Given the description of an element on the screen output the (x, y) to click on. 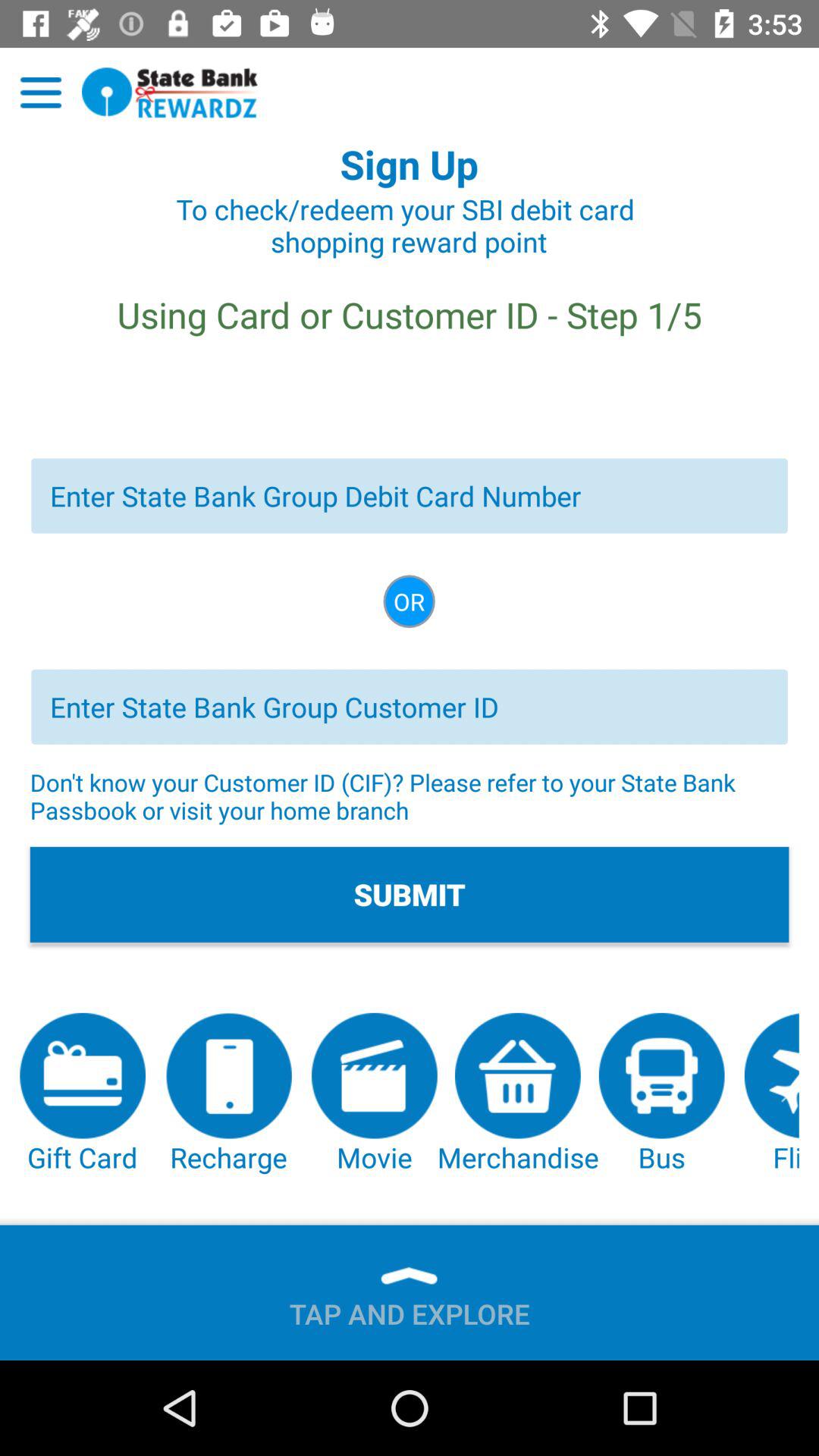
tap app below the don t know app (409, 894)
